Given the description of an element on the screen output the (x, y) to click on. 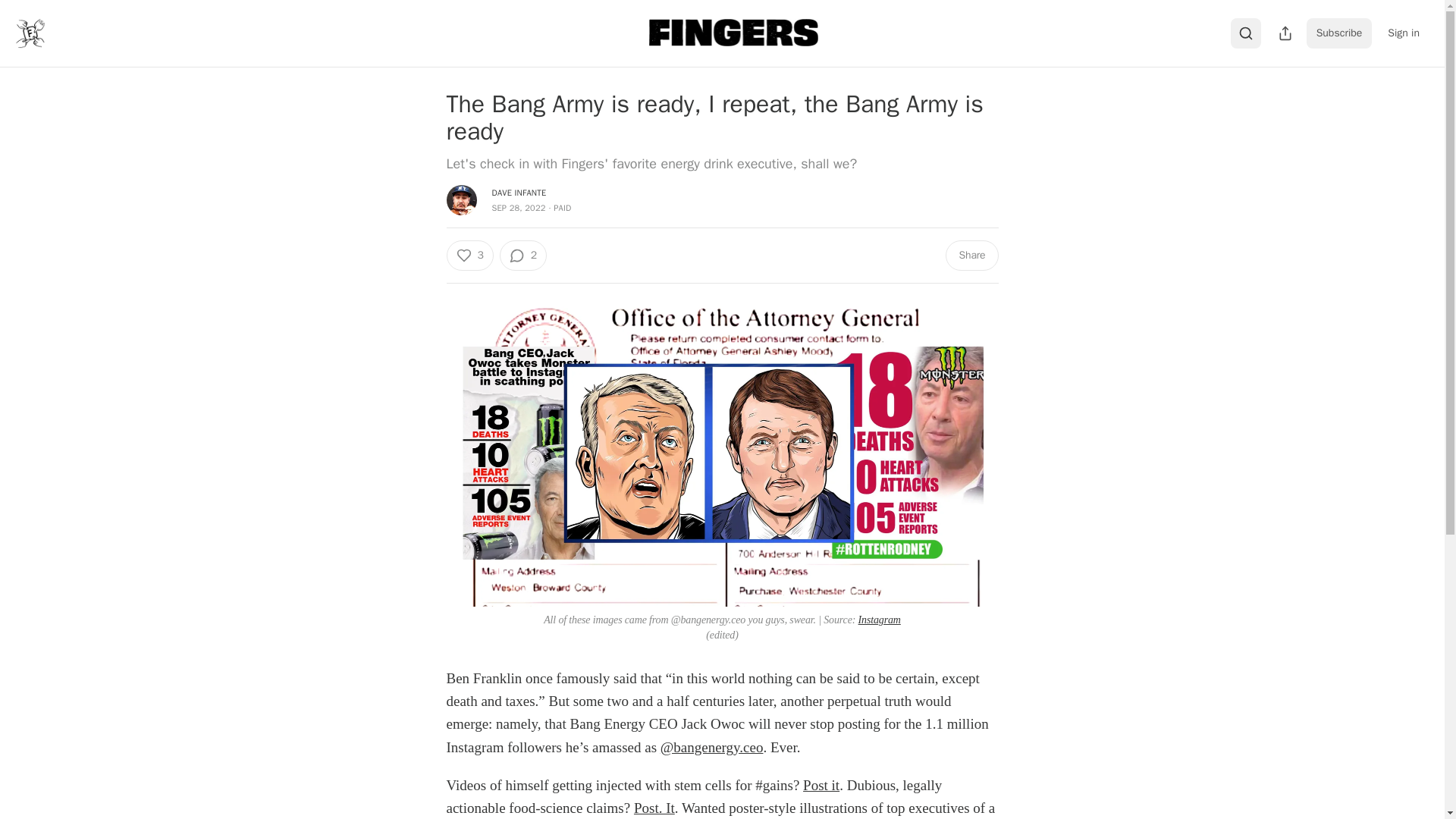
Post it (821, 785)
Subscribe (1339, 33)
Share (970, 255)
Sign in (1403, 33)
Post. It (654, 807)
2 (523, 255)
DAVE INFANTE (519, 192)
Instagram (880, 619)
3 (469, 255)
